Given the description of an element on the screen output the (x, y) to click on. 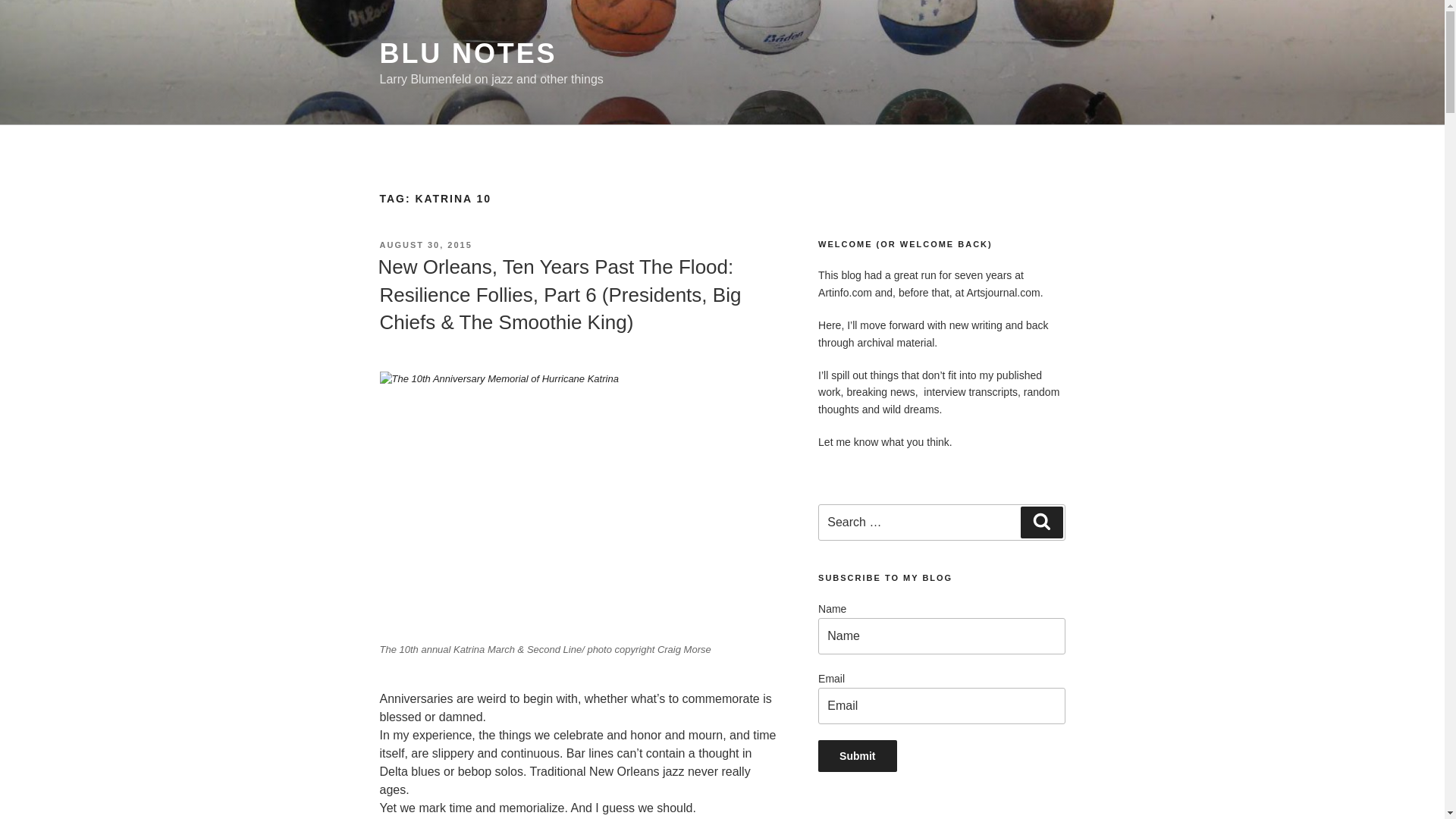
Submit (857, 756)
BLU NOTES (467, 52)
Search (1041, 522)
Submit (857, 756)
AUGUST 30, 2015 (424, 244)
